Given the description of an element on the screen output the (x, y) to click on. 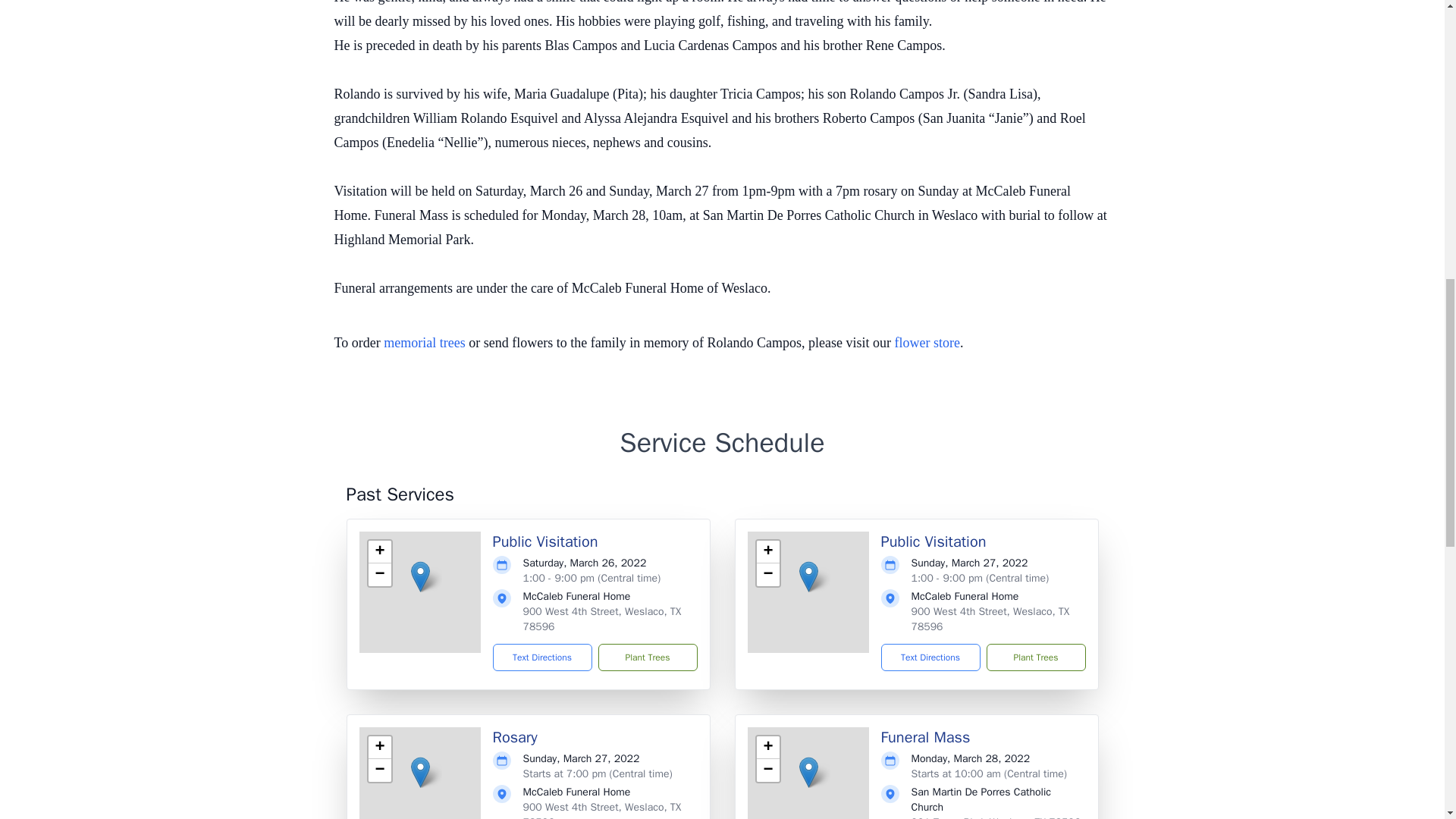
memorial trees (424, 342)
900 West 4th Street, Weslaco, TX 78596 (601, 619)
Zoom in (379, 747)
Text Directions (929, 656)
Text Directions (542, 656)
900 West 4th Street, Weslaco, TX 78596 (601, 809)
Zoom out (767, 770)
Zoom out (767, 574)
Zoom out (379, 574)
Plant Trees (646, 656)
Zoom in (379, 551)
Plant Trees (1034, 656)
Zoom in (767, 747)
900 West 4th Street, Weslaco, TX 78596 (990, 619)
Zoom out (379, 770)
